Given the description of an element on the screen output the (x, y) to click on. 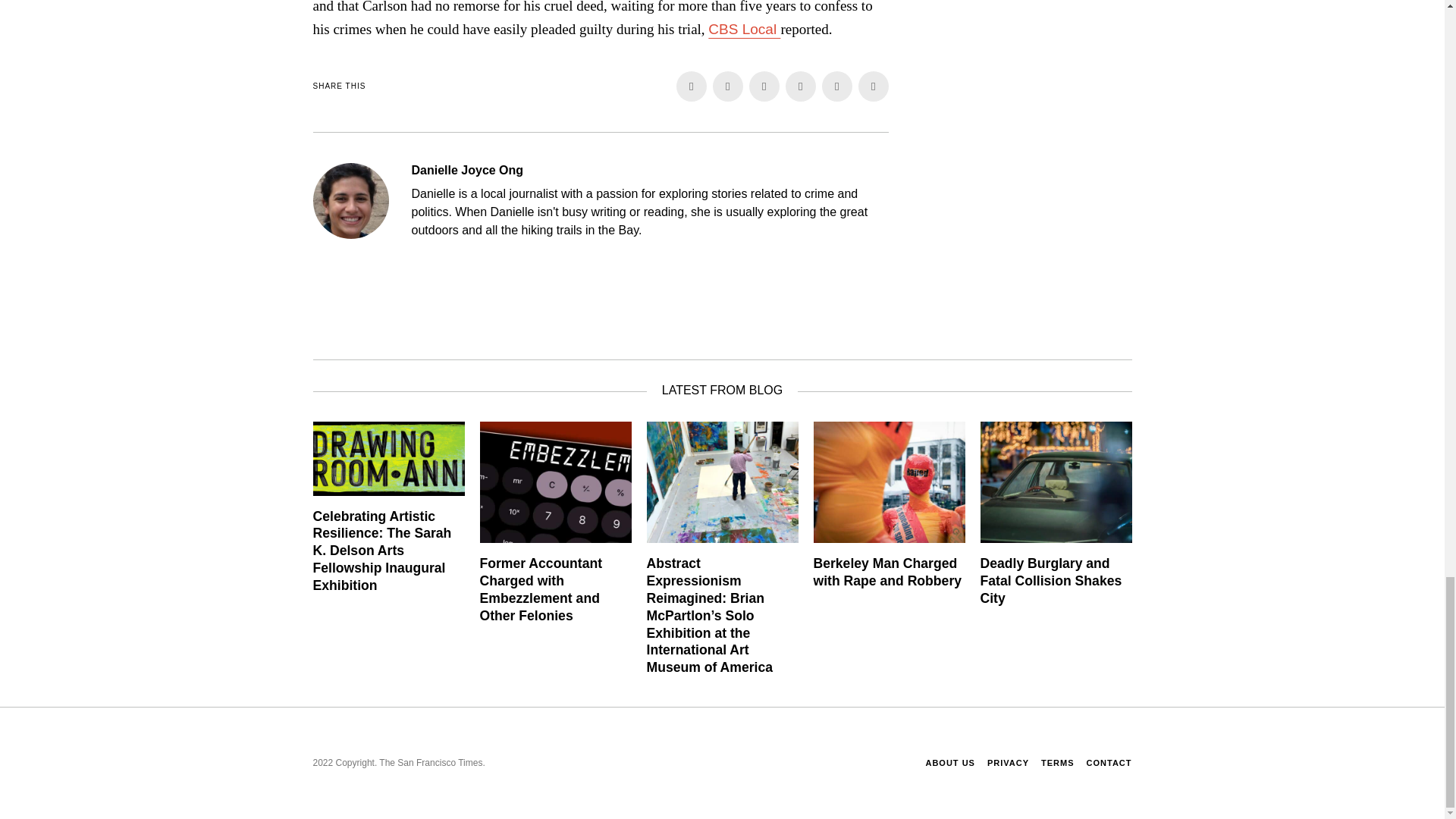
CBS Local (743, 28)
